Given the description of an element on the screen output the (x, y) to click on. 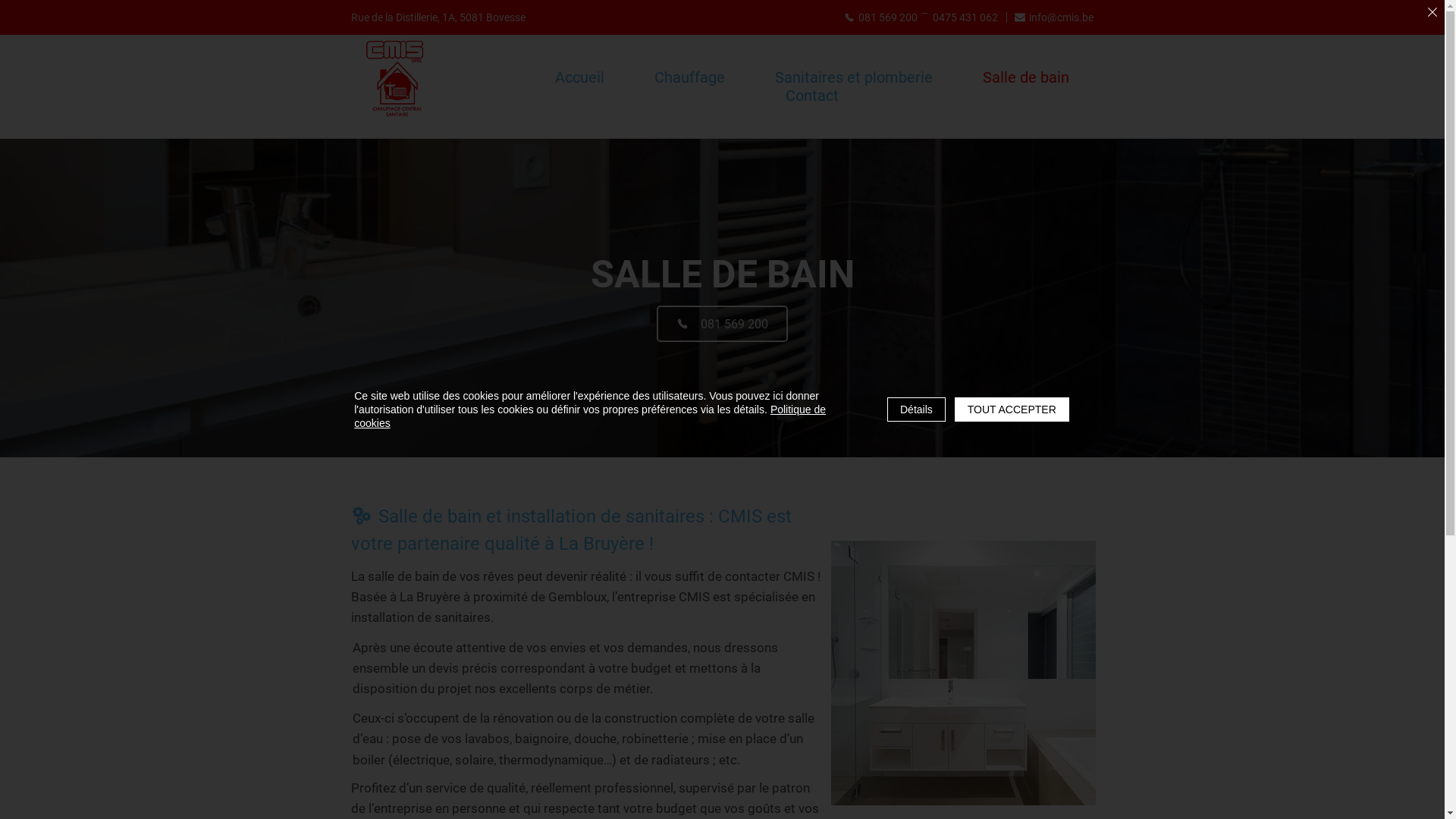
Sanitaires et plomberie Element type: text (853, 77)
Salle de bain Element type: text (1025, 77)
Contact Element type: text (811, 95)
081 569 200 Element type: text (721, 323)
TOUT ACCEPTER Element type: text (1011, 409)
Chauffage Element type: text (689, 77)
Accueil Element type: text (578, 77)
0475 431 062 Element type: text (964, 17)
081 569 200 Element type: text (880, 17)
info@cmis.be Element type: text (1053, 17)
Politique de cookies Element type: text (589, 416)
